Given the description of an element on the screen output the (x, y) to click on. 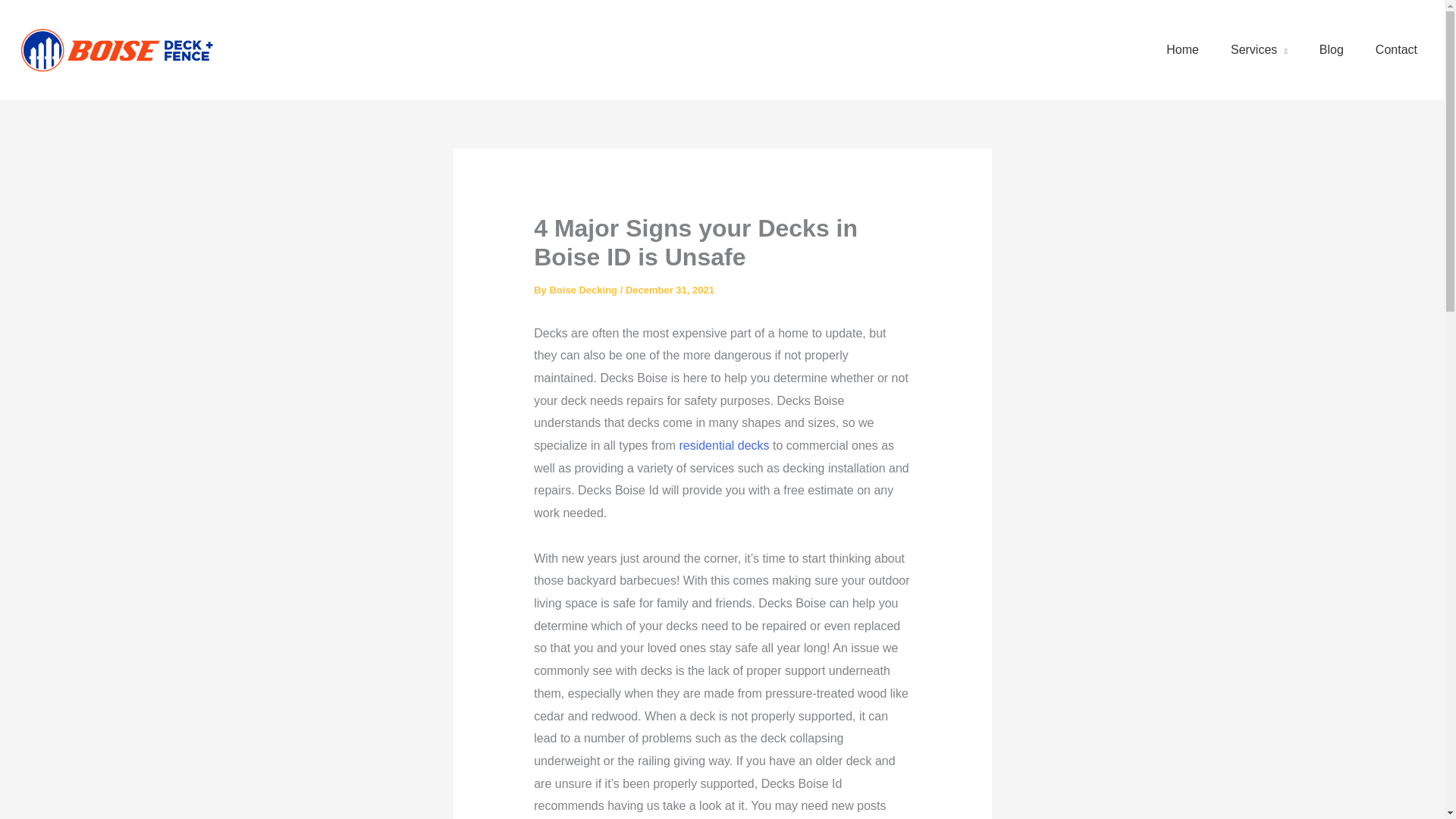
View all posts by Boise Decking (584, 289)
Blog (1331, 49)
residential decks (723, 445)
Services (1259, 49)
Home (1182, 49)
Boise Decking (584, 289)
Contact (1395, 49)
